Given the description of an element on the screen output the (x, y) to click on. 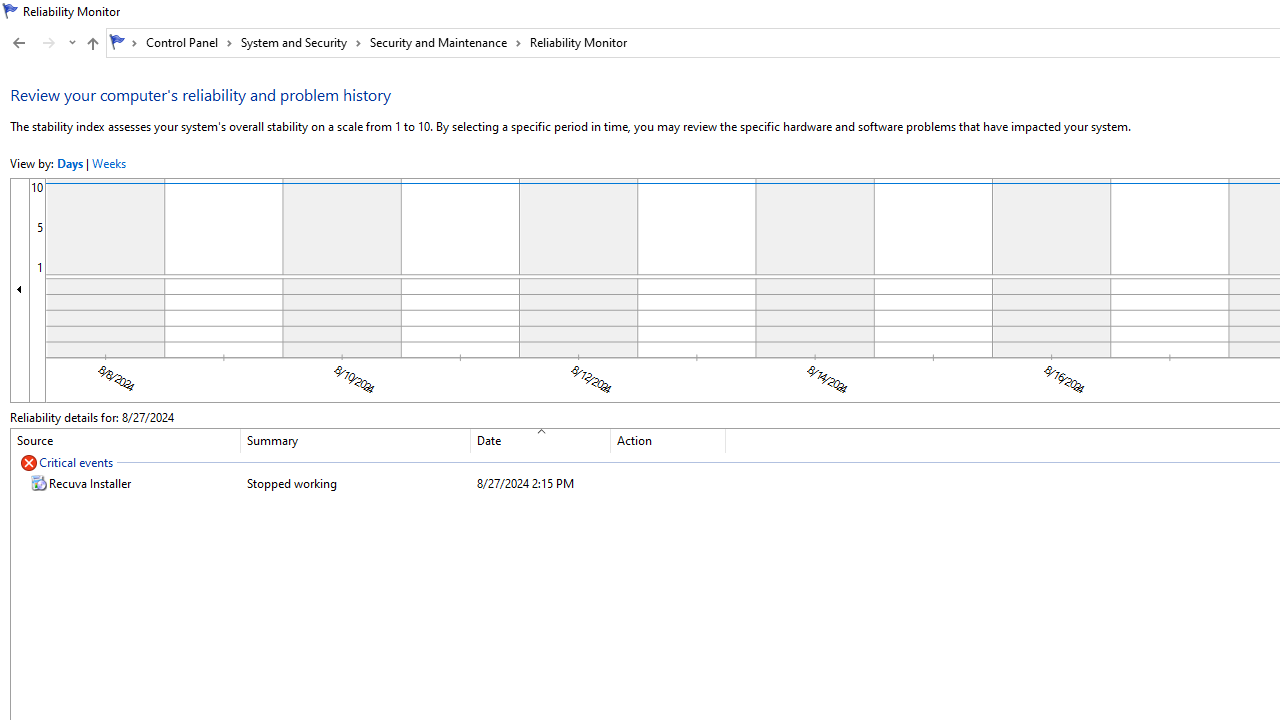
Forward (Alt + Right Arrow) (49, 43)
ScrollLeft (20, 289)
ViewByWeeks (108, 163)
Back to Security and Maintenance (Alt + Left Arrow) (18, 43)
System and Security (301, 42)
Recuva Installer (368, 483)
ViewByDays (70, 163)
Navigation buttons (41, 43)
Up to "Security and Maintenance" (Alt + Up Arrow) (92, 43)
Control Panel (189, 42)
Security and Maintenance (446, 42)
Up band toolbar (92, 46)
Reliability Monitor (578, 42)
Recent locations (71, 43)
System (10, 11)
